Given the description of an element on the screen output the (x, y) to click on. 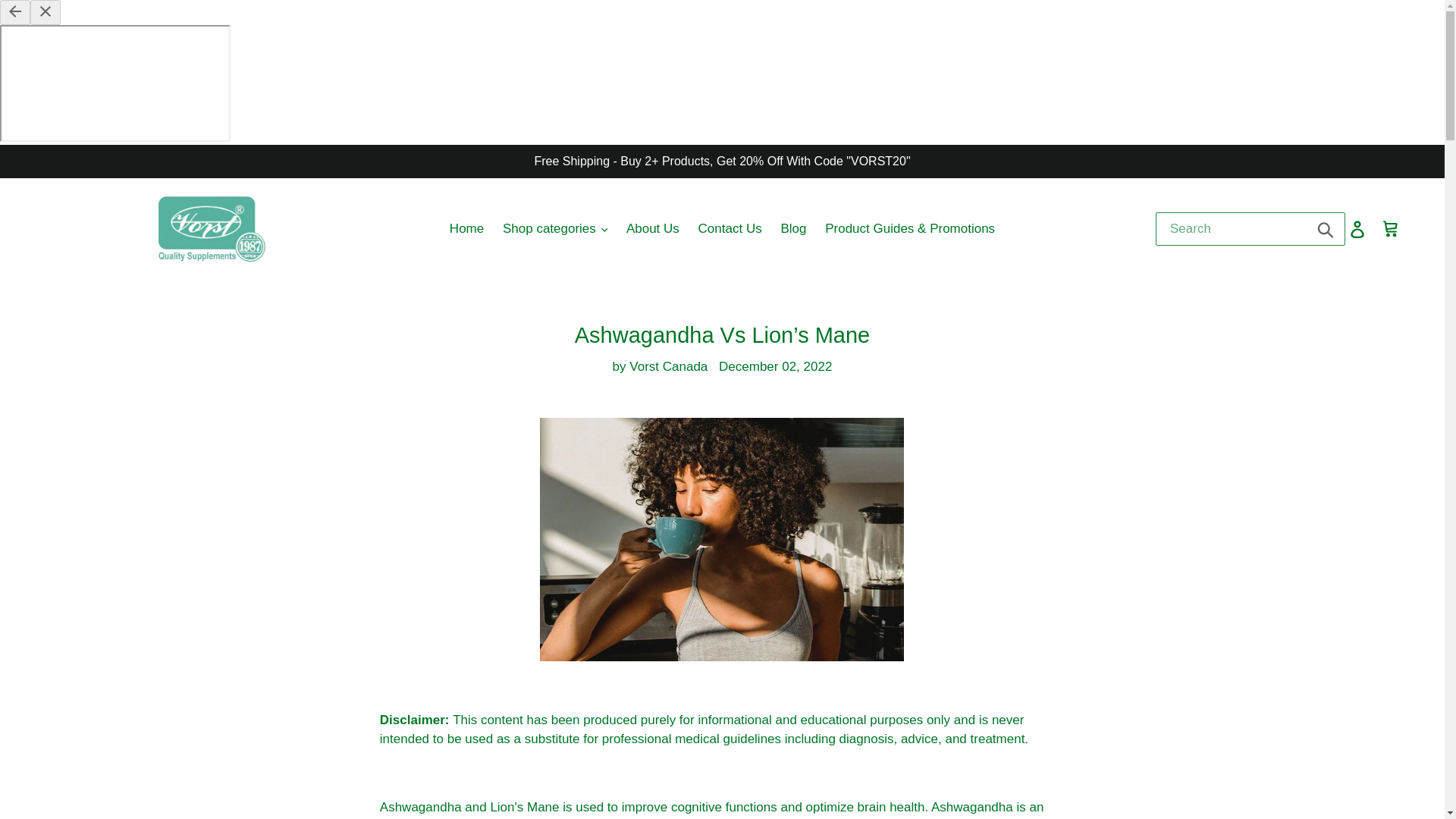
Blog (793, 228)
About Us (652, 228)
Cart (1392, 228)
Home (467, 228)
Log in (1357, 228)
Submit (1326, 228)
Contact Us (730, 228)
